Given the description of an element on the screen output the (x, y) to click on. 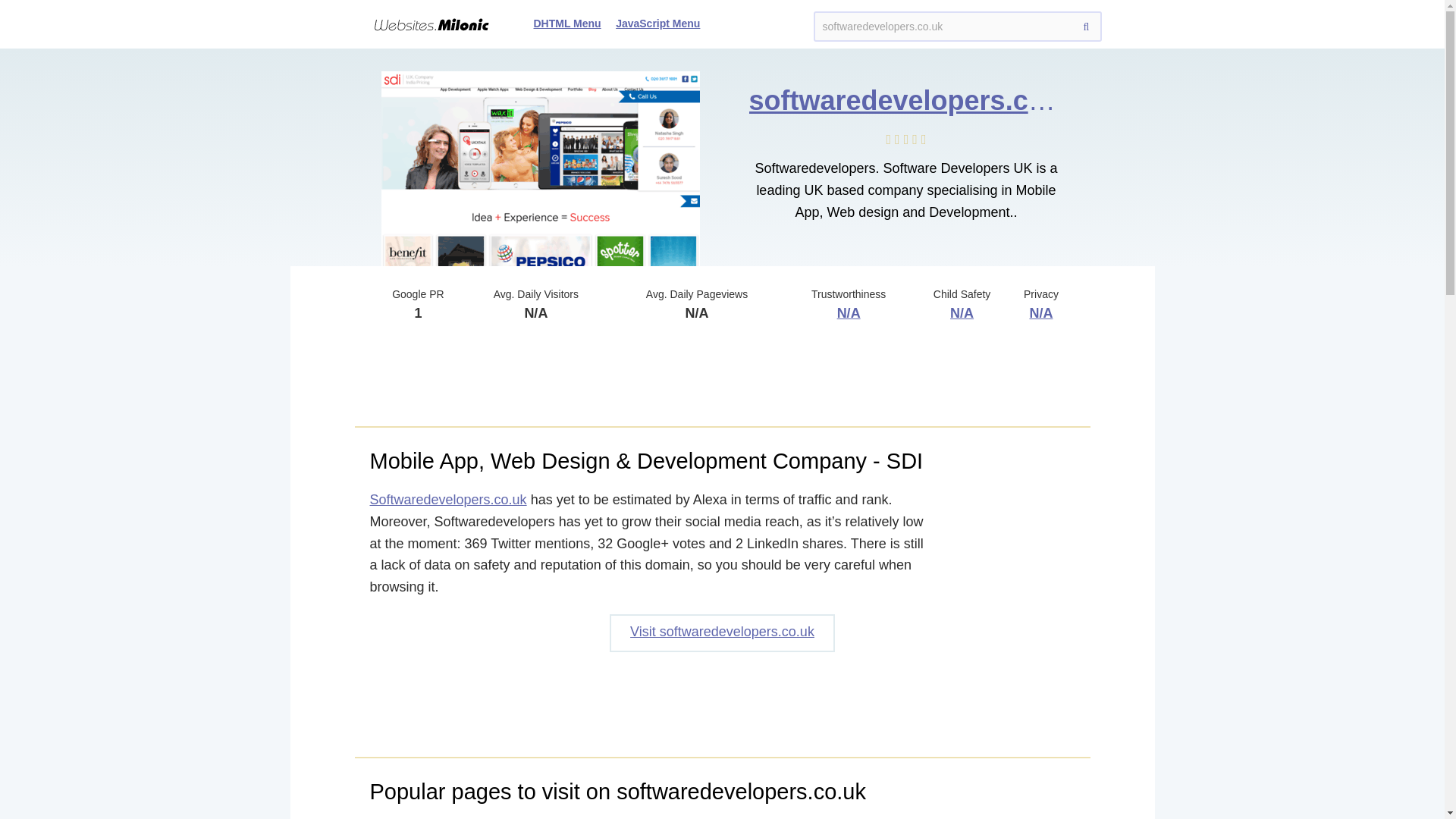
JavaScript Menu (657, 23)
DHTML Menu (567, 23)
softwaredevelopers.co.uk (956, 26)
softwaredevelopers.co.uk (916, 100)
Visit softwaredevelopers.co.uk (722, 632)
Softwaredevelopers.co.uk (448, 499)
